Given the description of an element on the screen output the (x, y) to click on. 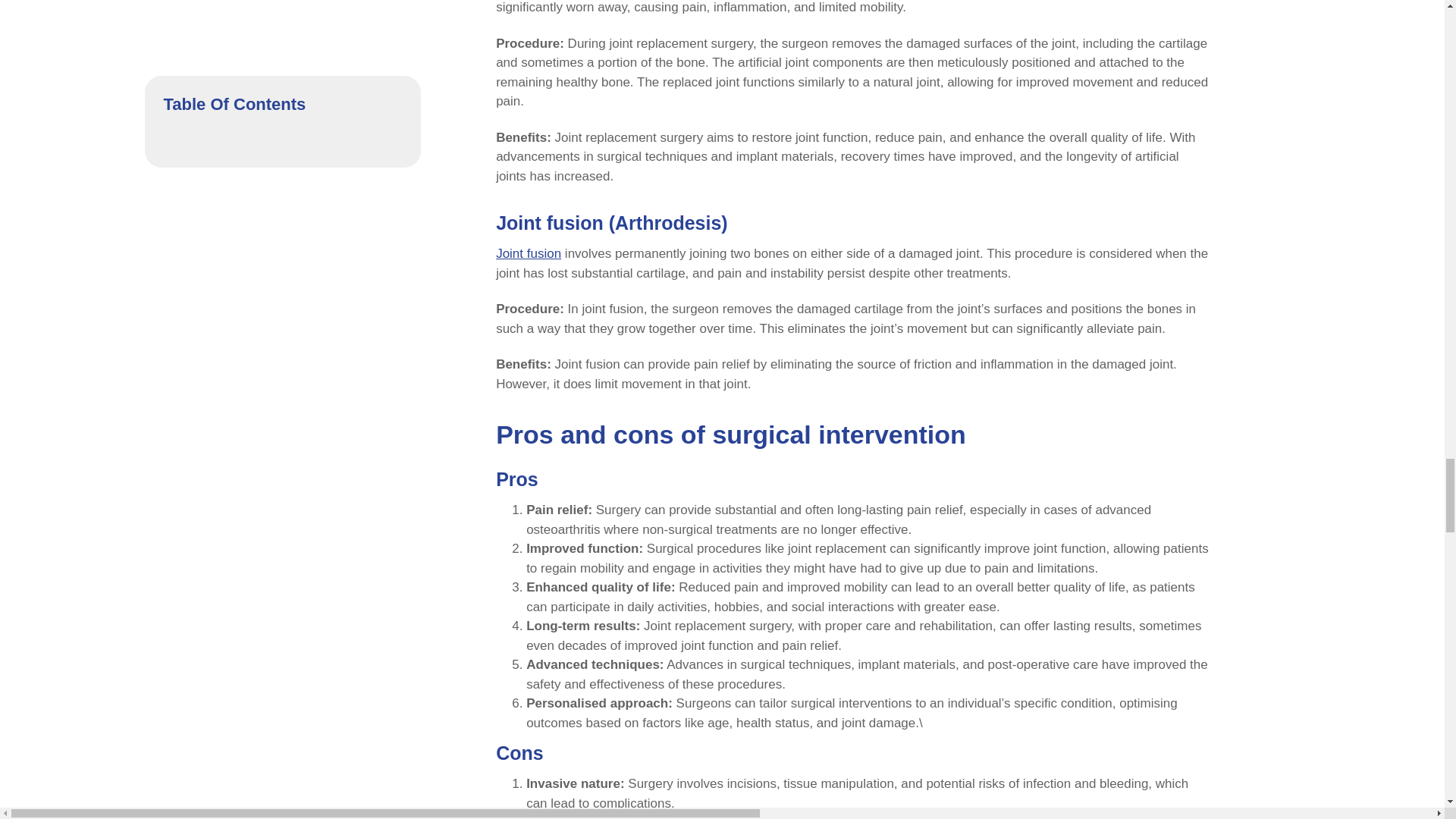
Joint fusion (528, 253)
